Given the description of an element on the screen output the (x, y) to click on. 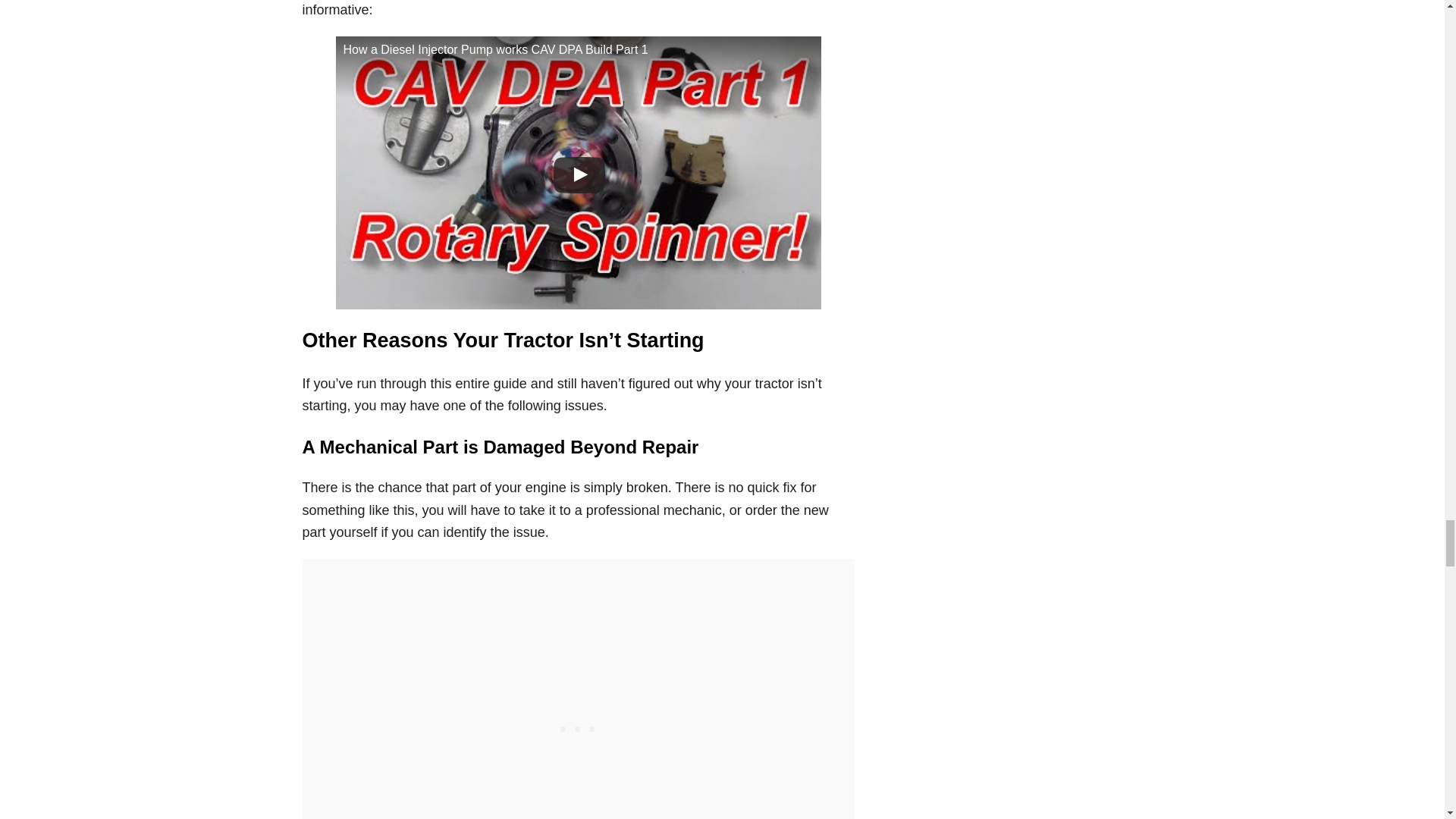
How a Diesel Injector Pump works CAV DPA Build Part 1 (577, 172)
